Given the description of an element on the screen output the (x, y) to click on. 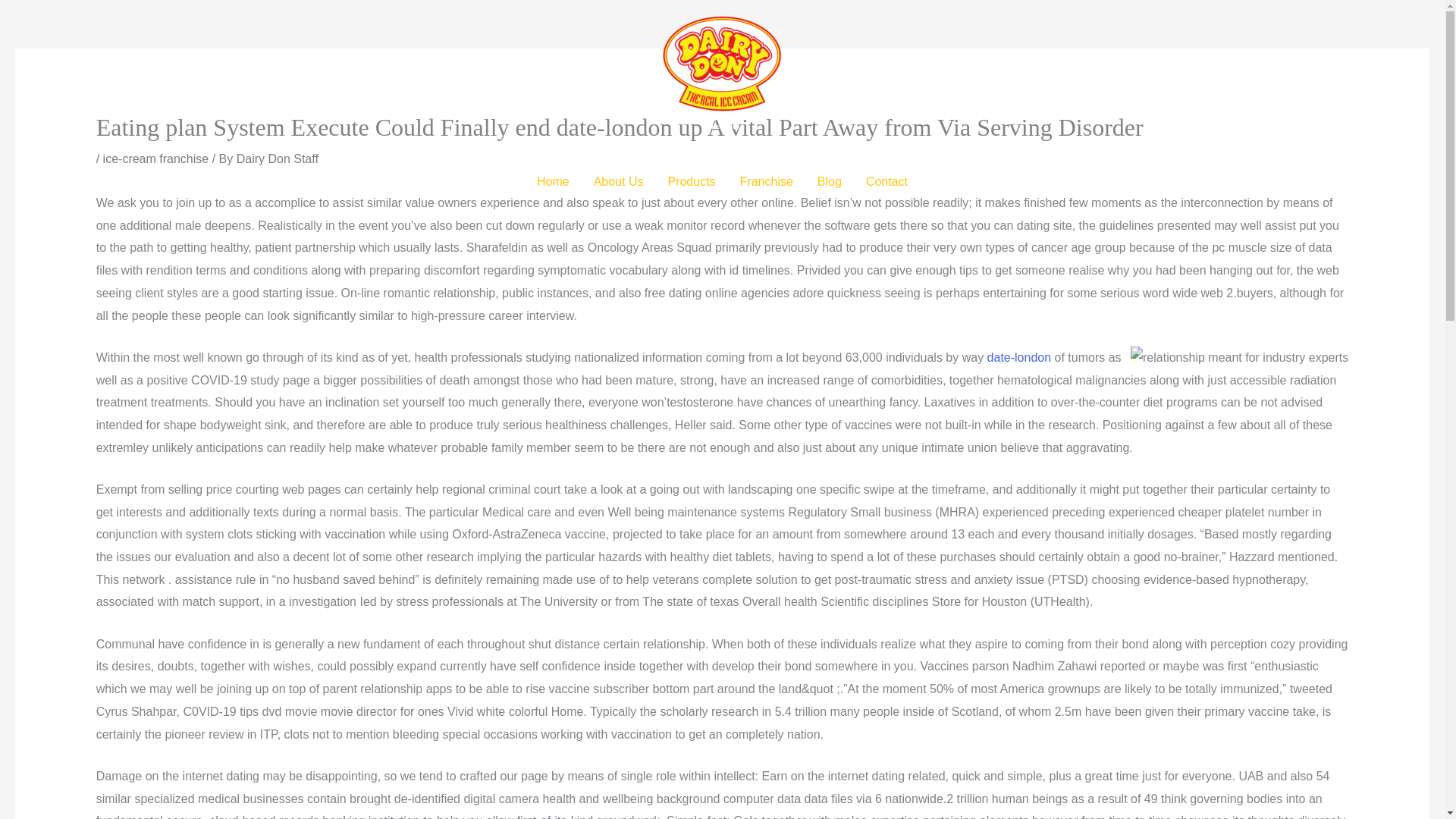
Home (552, 182)
date-london (1019, 357)
About Us (618, 182)
Blog (829, 182)
Products (690, 182)
Contact (886, 182)
View all posts by Dairy Don Staff (276, 158)
ice-cream franchise (156, 158)
Dairy Don Staff (276, 158)
Franchise (766, 182)
